Given the description of an element on the screen output the (x, y) to click on. 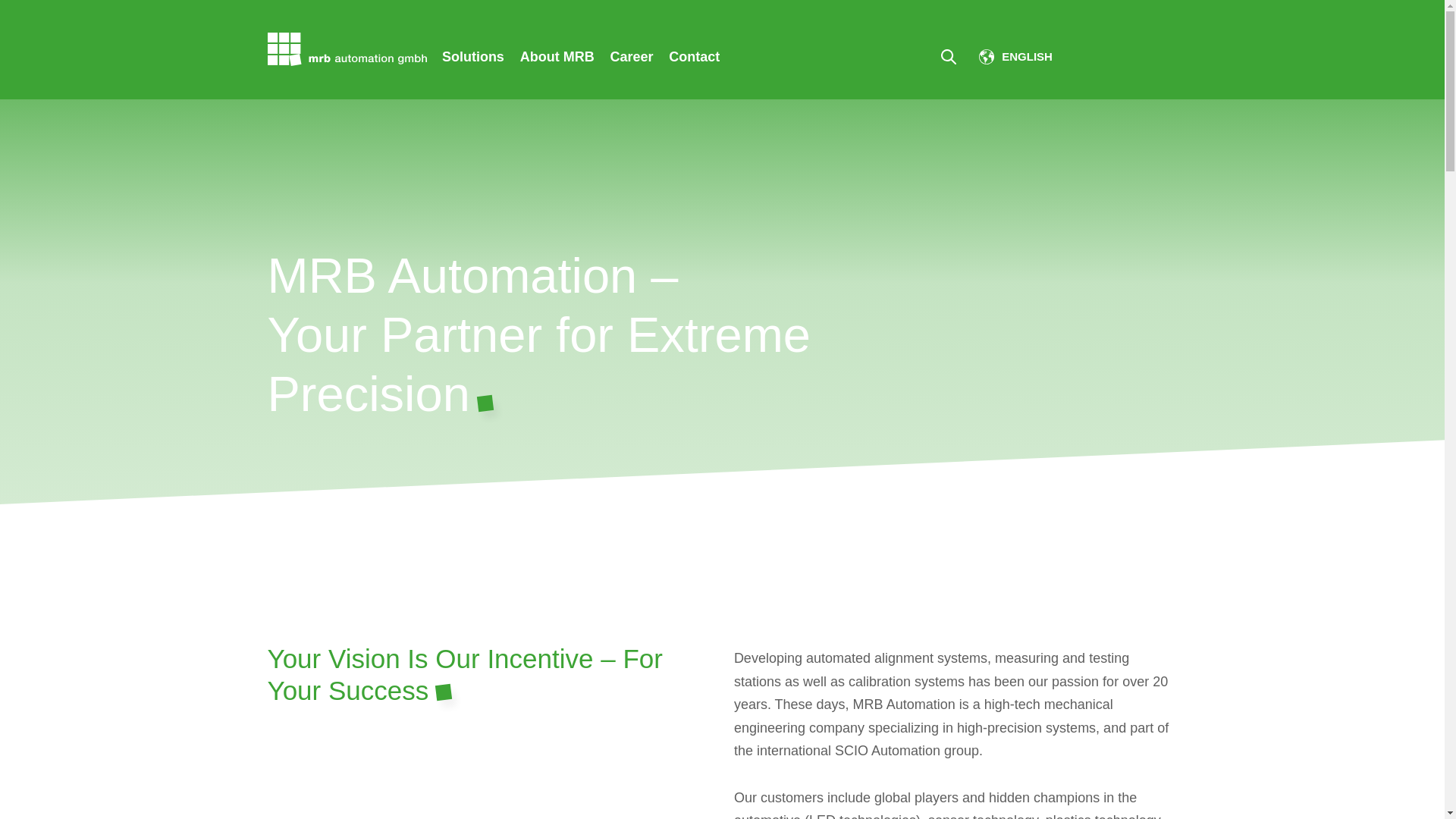
Scio Member (1127, 56)
Career (631, 56)
Contact (694, 56)
Open search (948, 56)
Show submenu for translations (1017, 56)
About MRB (557, 56)
Solutions (472, 56)
